Given the description of an element on the screen output the (x, y) to click on. 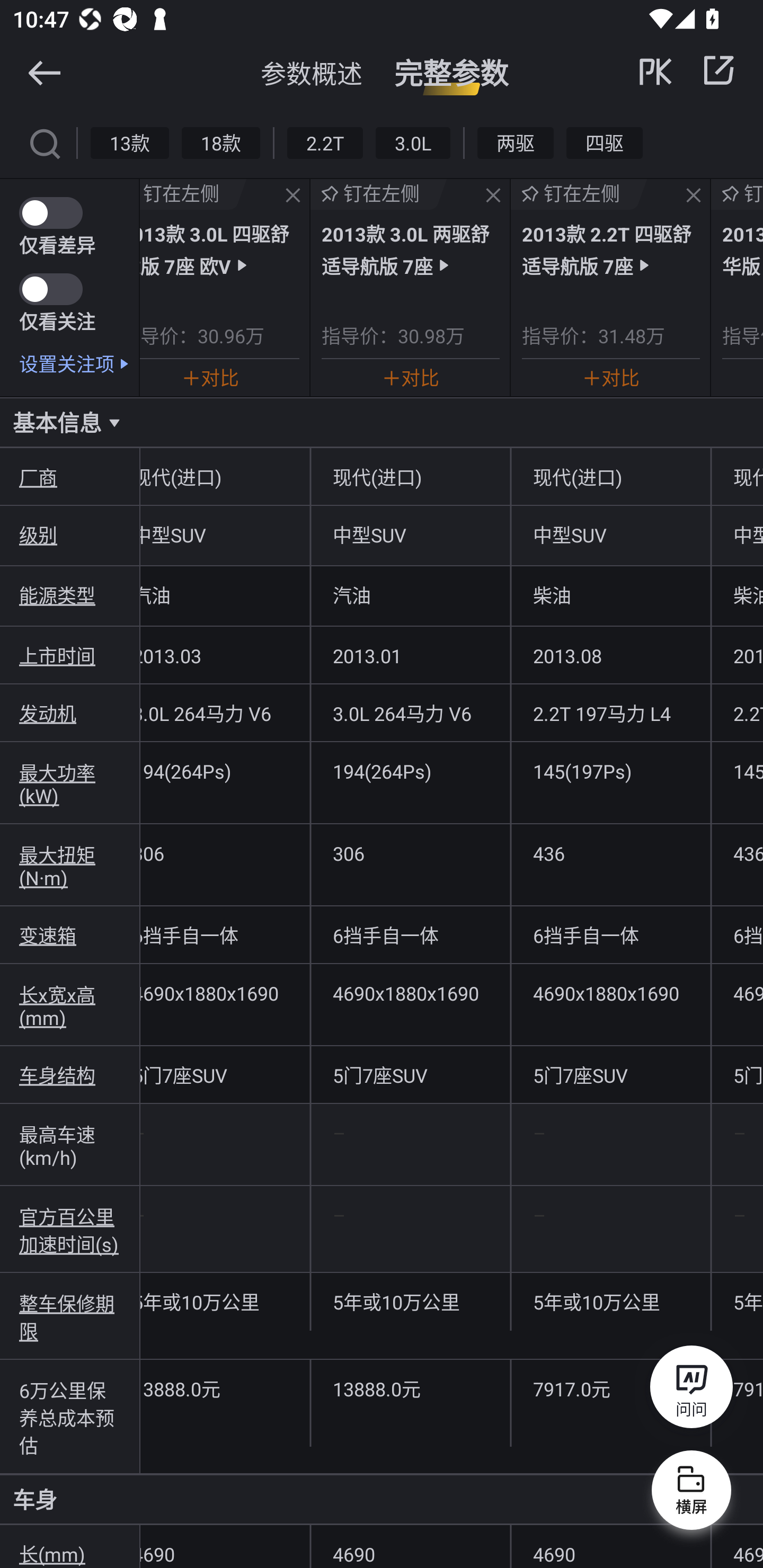
  (688, 70)
参数概述 (311, 72)
 (718, 70)
 (44, 71)
 (44, 142)
13款 (129, 142)
18款 (220, 142)
2.2T (324, 142)
3.0L (412, 142)
两驱 (515, 142)
四驱 (604, 142)
 钉在左侧 (193, 194)
 (292, 195)
 钉在左侧 (378, 194)
 (493, 195)
 钉在左侧 (578, 194)
 (693, 195)
2013款 3.0L 四驱舒适版 7座 欧V  (219, 249)
2013款 3.0L 两驱舒适导航版 7座  (410, 249)
2013款 2.2T 四驱舒适导航版 7座  (610, 249)
设置关注项  (79, 363)
对比 (209, 377)
对比 (410, 377)
对比 (610, 377)
基本信息  (381, 422)
厂商 (69, 477)
现代(进口) (410, 477)
现代(进口) (610, 477)
级别 (69, 534)
中型SUV (410, 534)
中型SUV (610, 534)
能源类型 (69, 595)
汽油 (410, 595)
柴油 (610, 595)
上市时间 (69, 655)
2013.01 (410, 655)
2013.08 (610, 655)
发动机 (69, 712)
3.0L 264马力 V6 (410, 712)
2.2T 197马力 L4 (610, 712)
最大功率(kW) (69, 782)
194(264Ps) (410, 770)
145(197Ps) (610, 770)
最大扭矩(N·m) (69, 865)
306 (410, 852)
436 (610, 852)
变速箱 (69, 935)
6挡手自一体 (410, 935)
6挡手自一体 (610, 935)
长x宽x高(mm) (69, 1004)
4690x1880x1690 (410, 993)
4690x1880x1690 (610, 993)
车身结构 (69, 1074)
5门7座SUV (410, 1074)
5门7座SUV (610, 1074)
最高车速(km/h) (69, 1144)
官方百公里加速时间(s) (69, 1229)
整车保修期限 (69, 1316)
5年或10万公里 (410, 1302)
5年或10万公里 (610, 1302)
 问问 (691, 1389)
6万公里保养总成本预估 (69, 1416)
13888.0元 (224, 1388)
13888.0元 (410, 1388)
7917.0元 (610, 1388)
长(mm) (69, 1546)
4690 (410, 1546)
4690 (610, 1546)
